Given the description of an element on the screen output the (x, y) to click on. 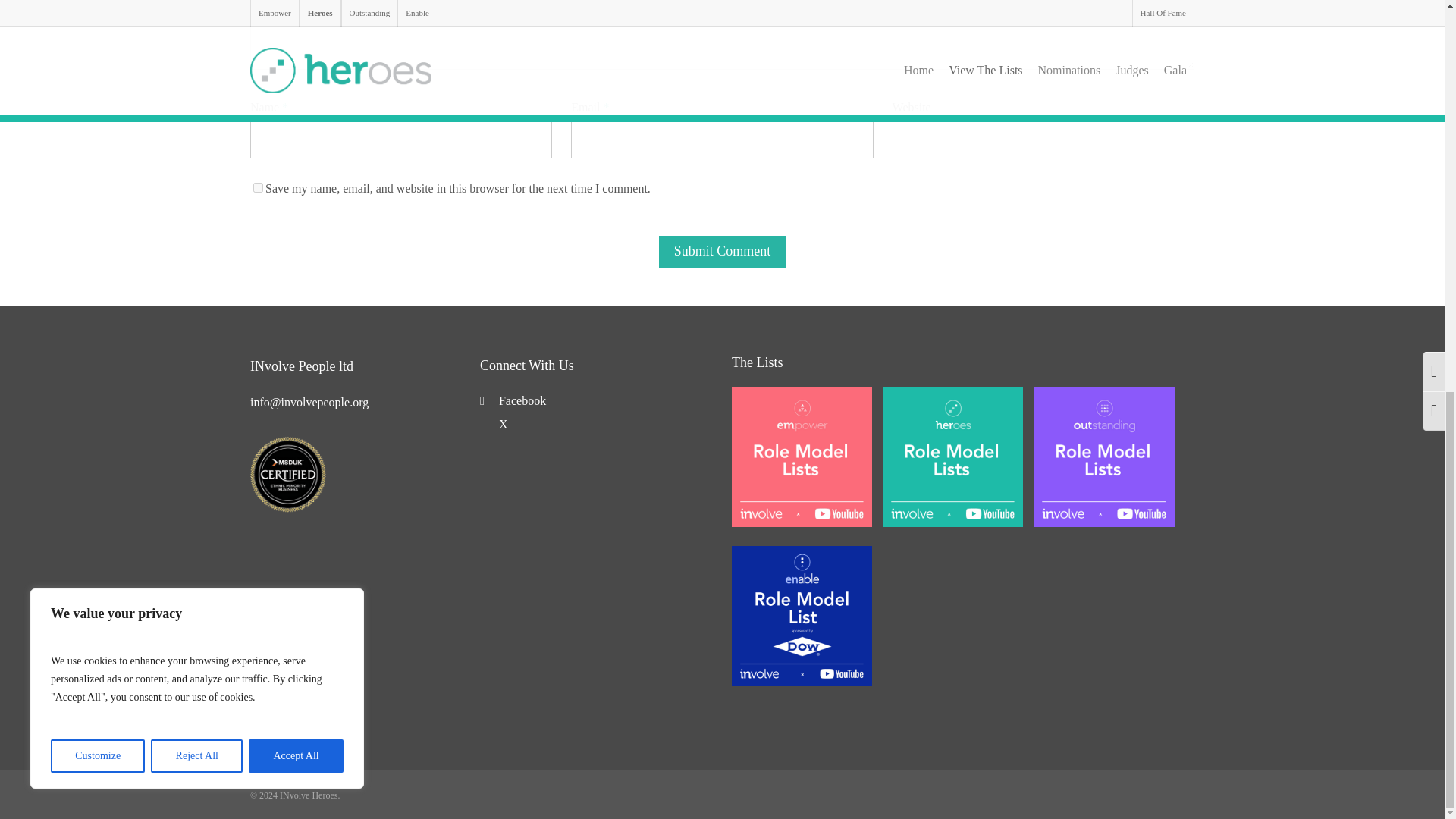
Customize (97, 11)
Accept All (295, 11)
yes (258, 187)
Submit Comment (722, 251)
X (494, 423)
Reject All (197, 11)
Submit Comment (722, 251)
